Given the description of an element on the screen output the (x, y) to click on. 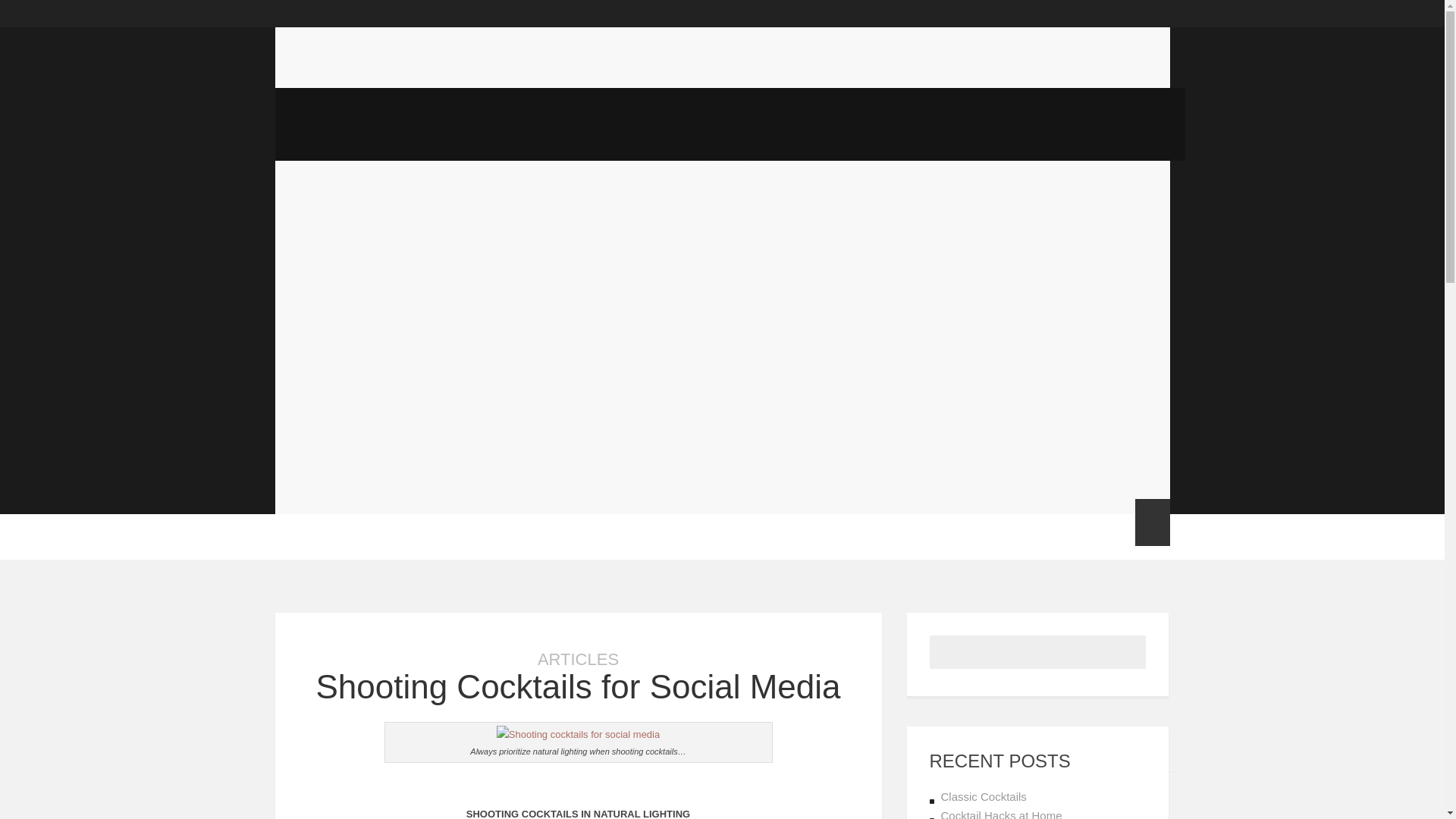
Permanent Link to Shooting Cocktails for Social Media (577, 686)
COCKTAILS (369, 536)
HOME (298, 536)
